Given the description of an element on the screen output the (x, y) to click on. 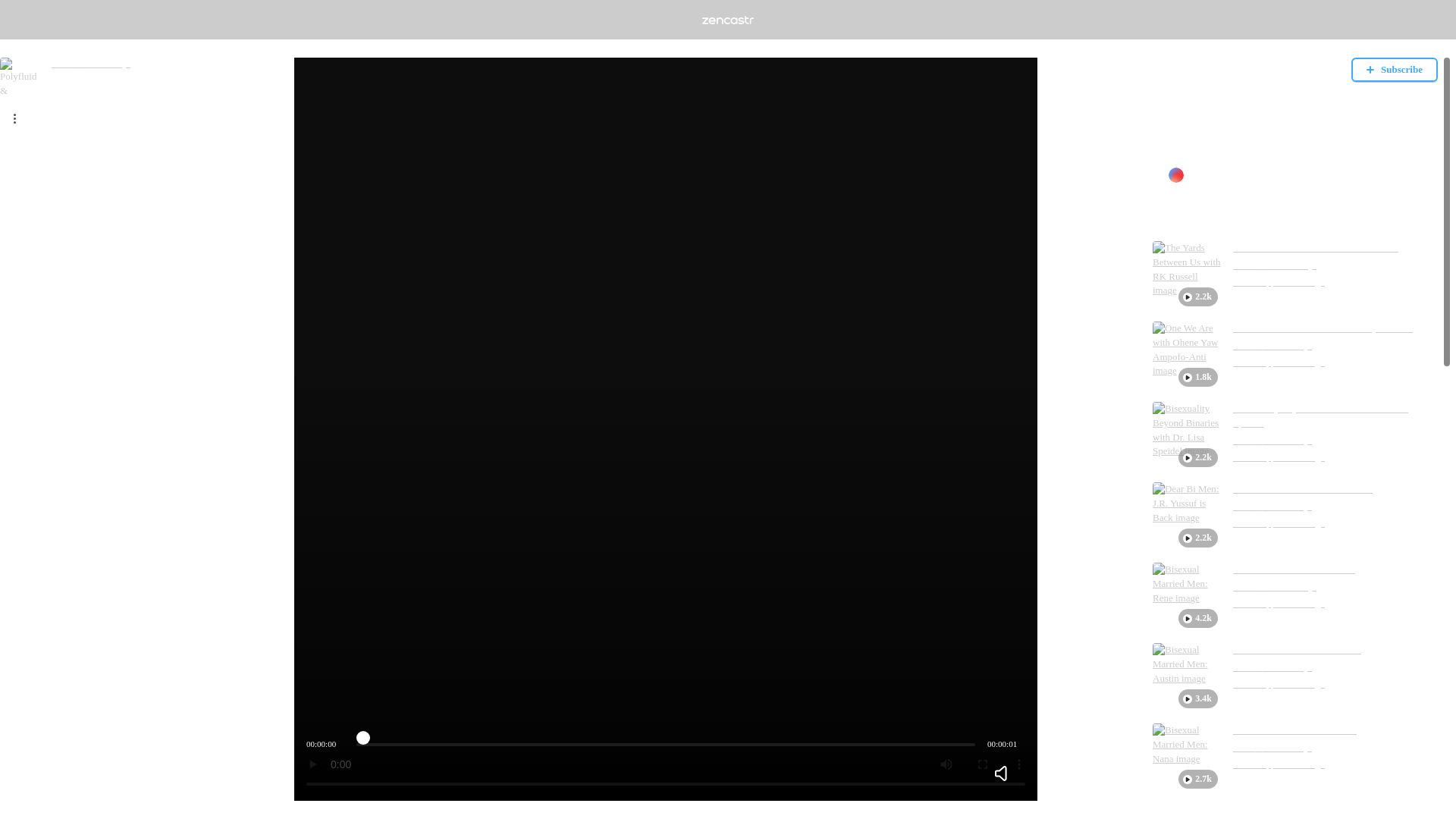
1.8k (1187, 355)
Bisexuality Beyond Binaries with Dr. Lisa Speidel (1335, 415)
One We Are with Ohene Yaw Ampofo-Anti (1322, 328)
2.2k (1187, 516)
Show more (1176, 147)
2.2k (1187, 274)
Dear Bi Men: J.R. Yussuf is Back (1303, 489)
2.2k (1187, 436)
The Yards Between Us with RK Russell (1315, 247)
Subscribe (1394, 69)
